Given the description of an element on the screen output the (x, y) to click on. 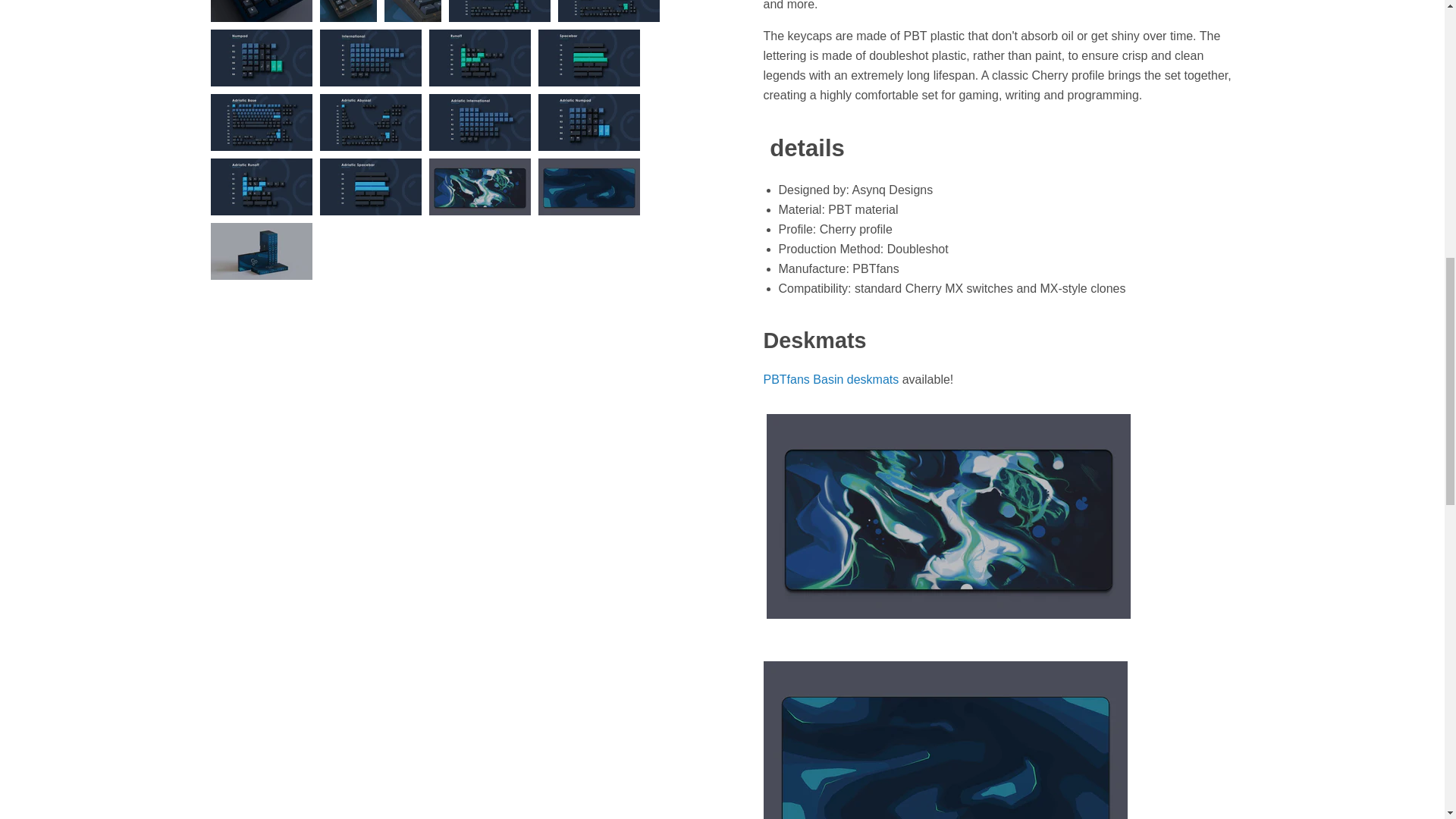
pbtfans-basin-deskmats (949, 626)
